Given the description of an element on the screen output the (x, y) to click on. 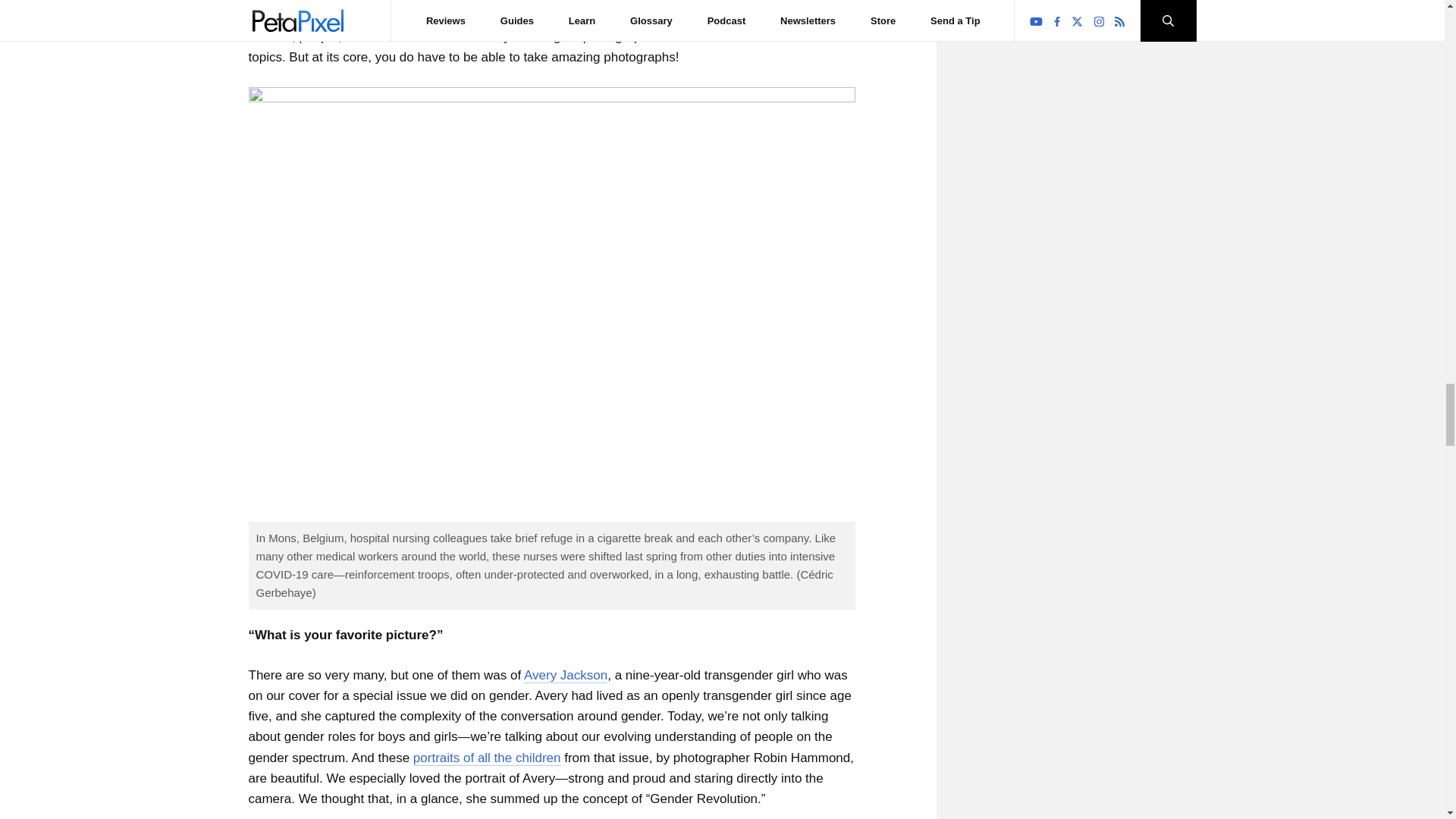
Avery Jackson (565, 675)
portraits of all the children (486, 758)
